Given the description of an element on the screen output the (x, y) to click on. 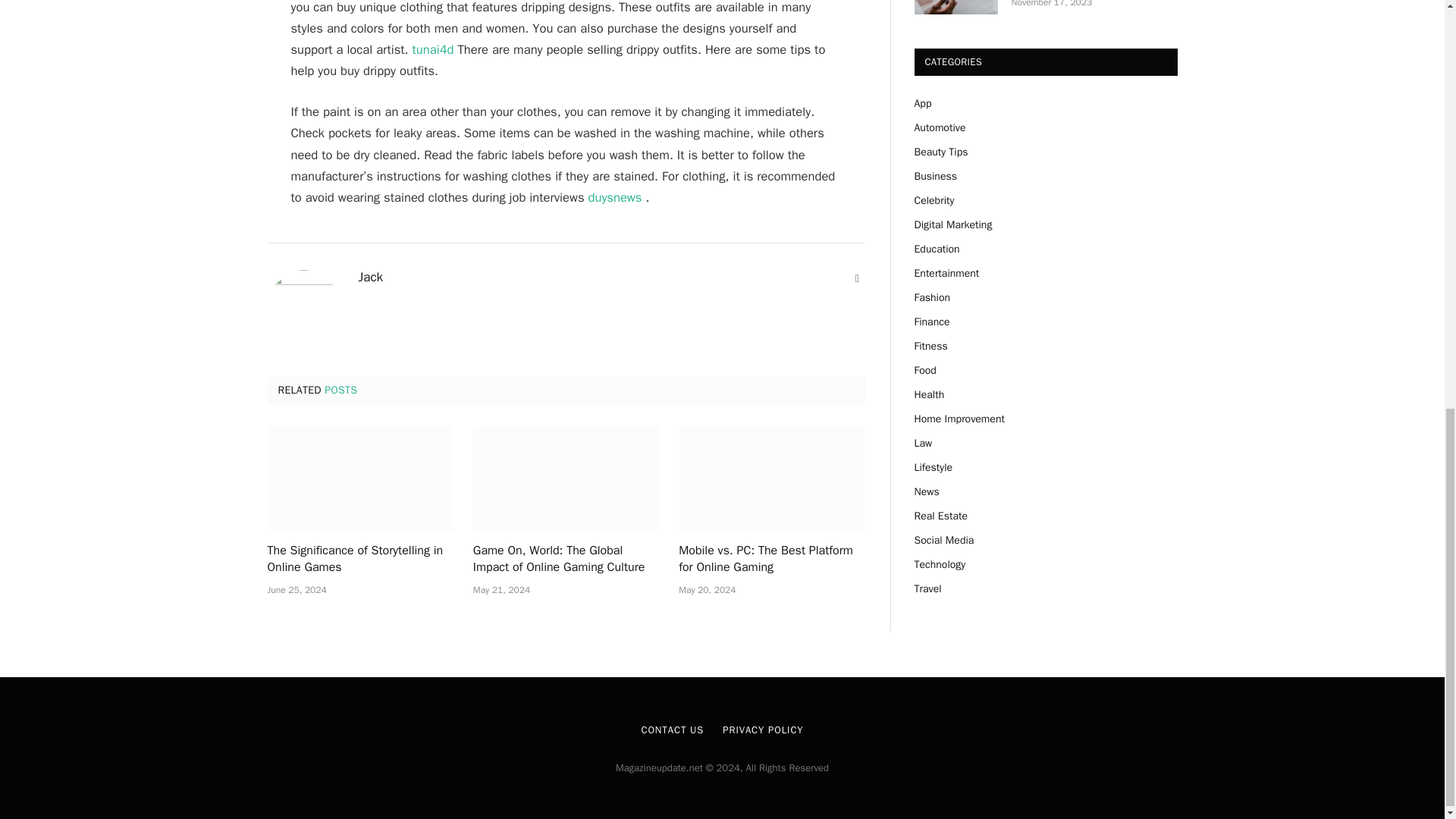
The Significance of Storytelling in Online Games (359, 477)
tunai4d (433, 49)
Website (856, 278)
Game On, World: The Global Impact of Online Gaming Culture (566, 559)
Game On, World: The Global Impact of Online Gaming Culture (566, 477)
duysnews (615, 197)
Jack (370, 277)
Mobile vs. PC: The Best Platform for Online Gaming (771, 477)
Website (856, 278)
Mobile vs. PC: The Best Platform for Online Gaming (771, 559)
